Given the description of an element on the screen output the (x, y) to click on. 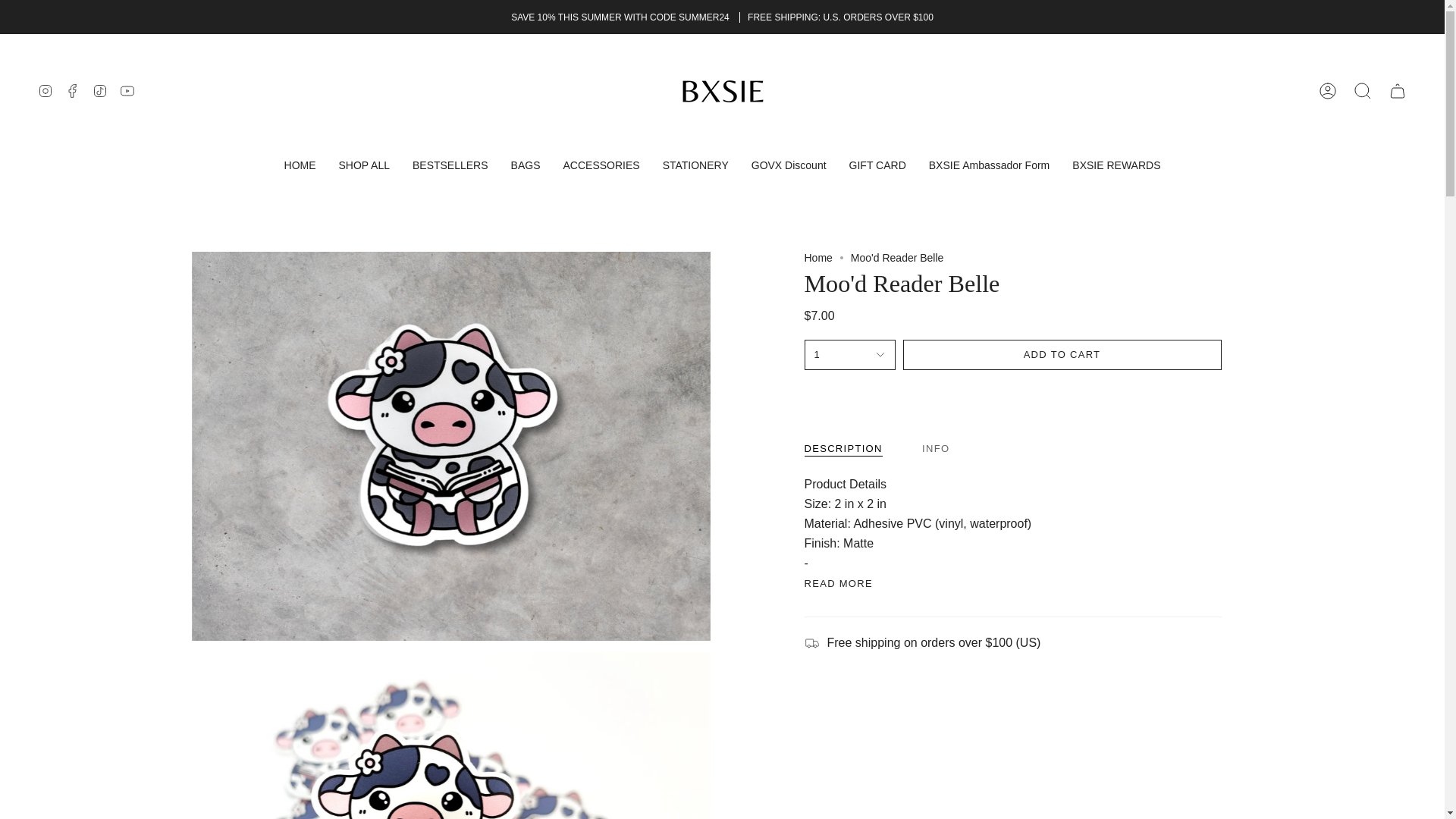
BESTSELLERS (450, 165)
ACCESSORIES (600, 165)
BAGS (525, 165)
BXSIE REWARDS (1116, 165)
GIFT CARD (877, 165)
SHOP ALL (364, 165)
HOME (300, 165)
STATIONERY (694, 165)
GOVX Discount (788, 165)
BXSIE Ambassador Form (989, 165)
